Given the description of an element on the screen output the (x, y) to click on. 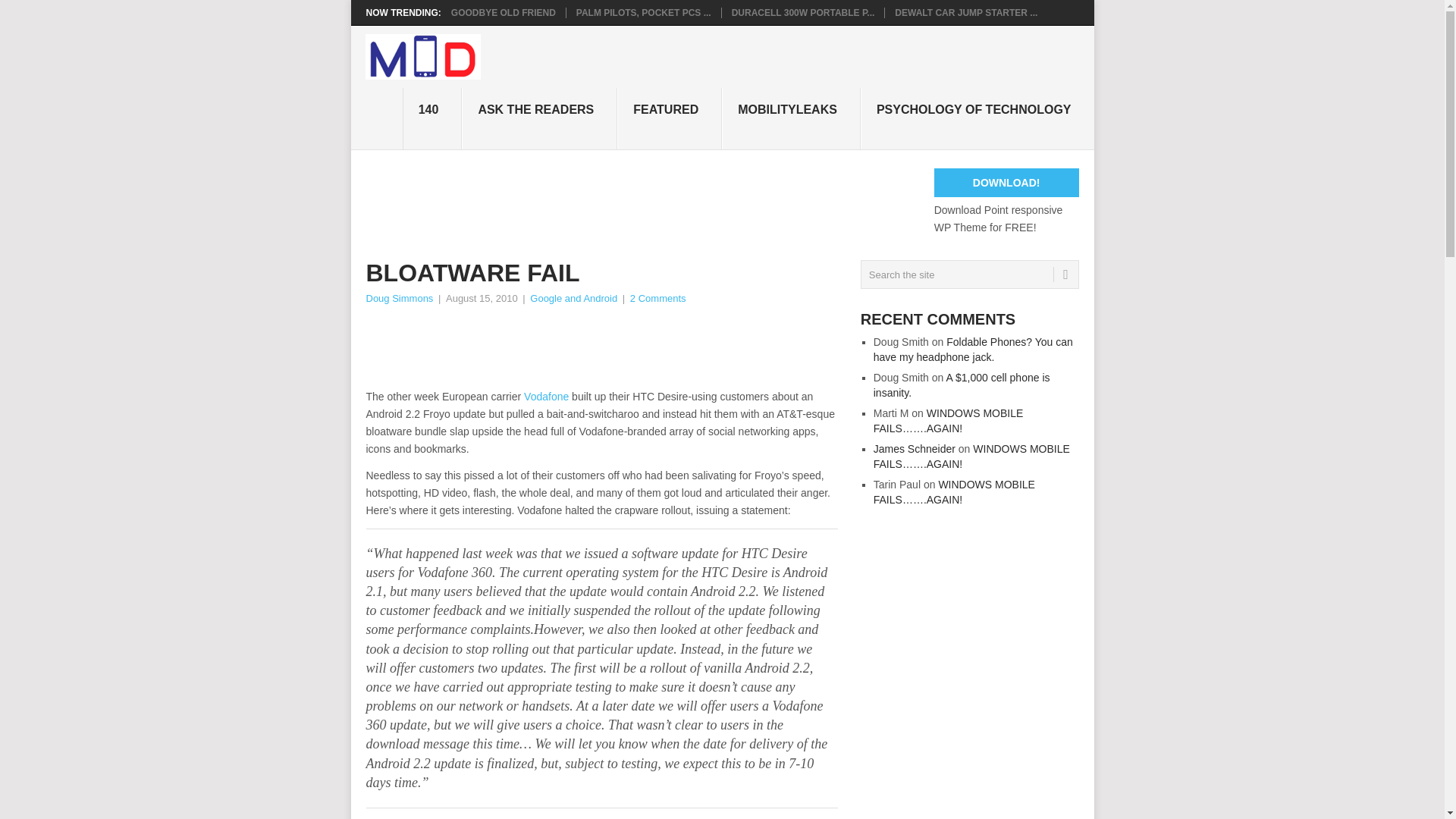
Vodafone (546, 396)
Advertisement (641, 348)
DeWalt Car Jump Starter Review (965, 12)
Advertisement (641, 202)
Posts by Doug Simmons (398, 297)
ASK THE READERS (539, 118)
Google and Android (573, 297)
wiki (546, 396)
2 Comments (657, 297)
Palm Pilots, Pocket PCs and Boogie Boards (643, 12)
GOODBYE OLD FRIEND (503, 12)
Search the site (969, 274)
DOWNLOAD! (1006, 182)
PSYCHOLOGY OF TECHNOLOGY (977, 118)
PALM PILOTS, POCKET PCS ... (643, 12)
